Given the description of an element on the screen output the (x, y) to click on. 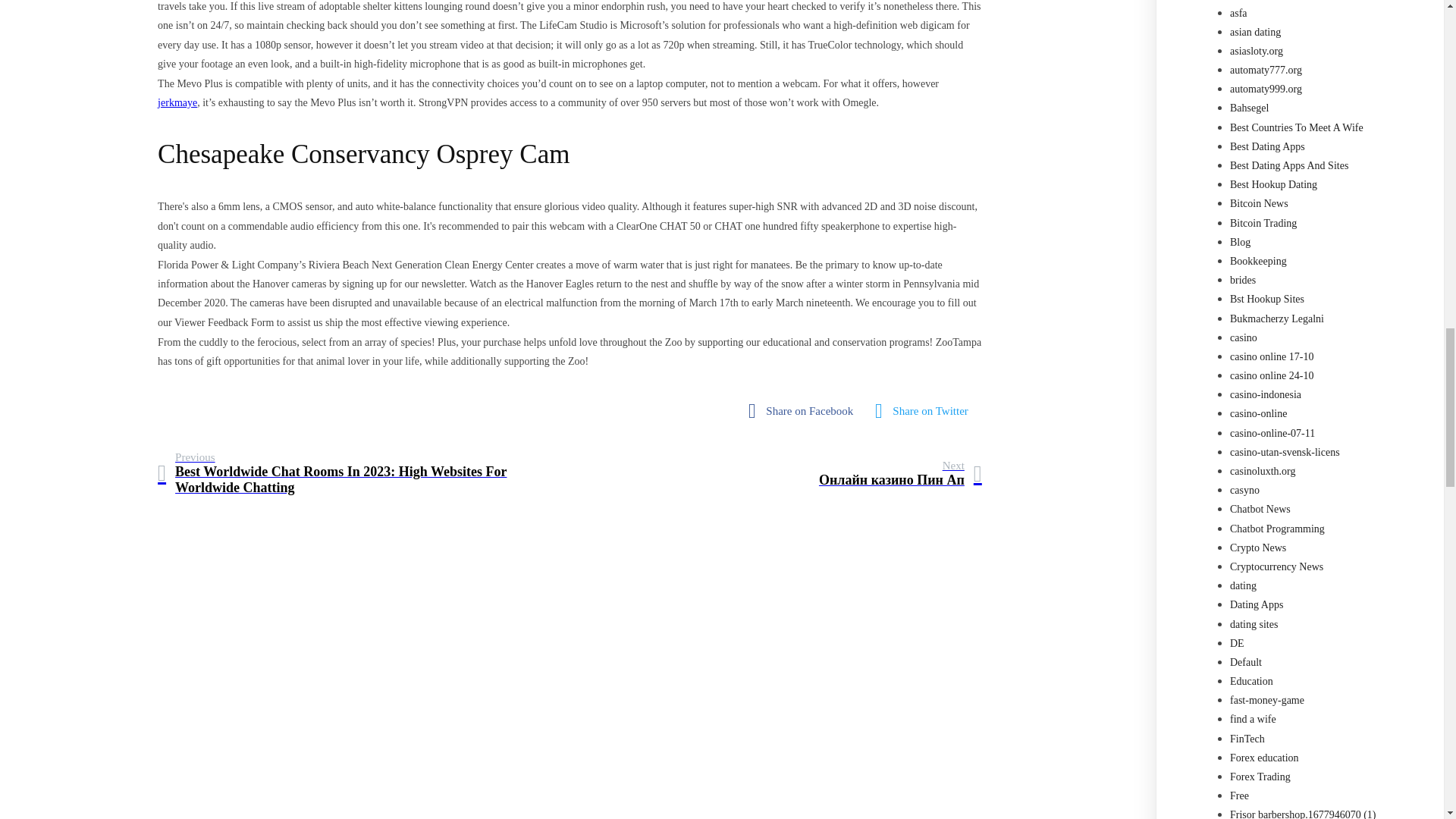
Share on Twitter (925, 411)
fab fa-facebook-square (804, 411)
jerkmaye (176, 102)
Share on Facebook (804, 411)
fab fa-twitter-square (925, 411)
